Given the description of an element on the screen output the (x, y) to click on. 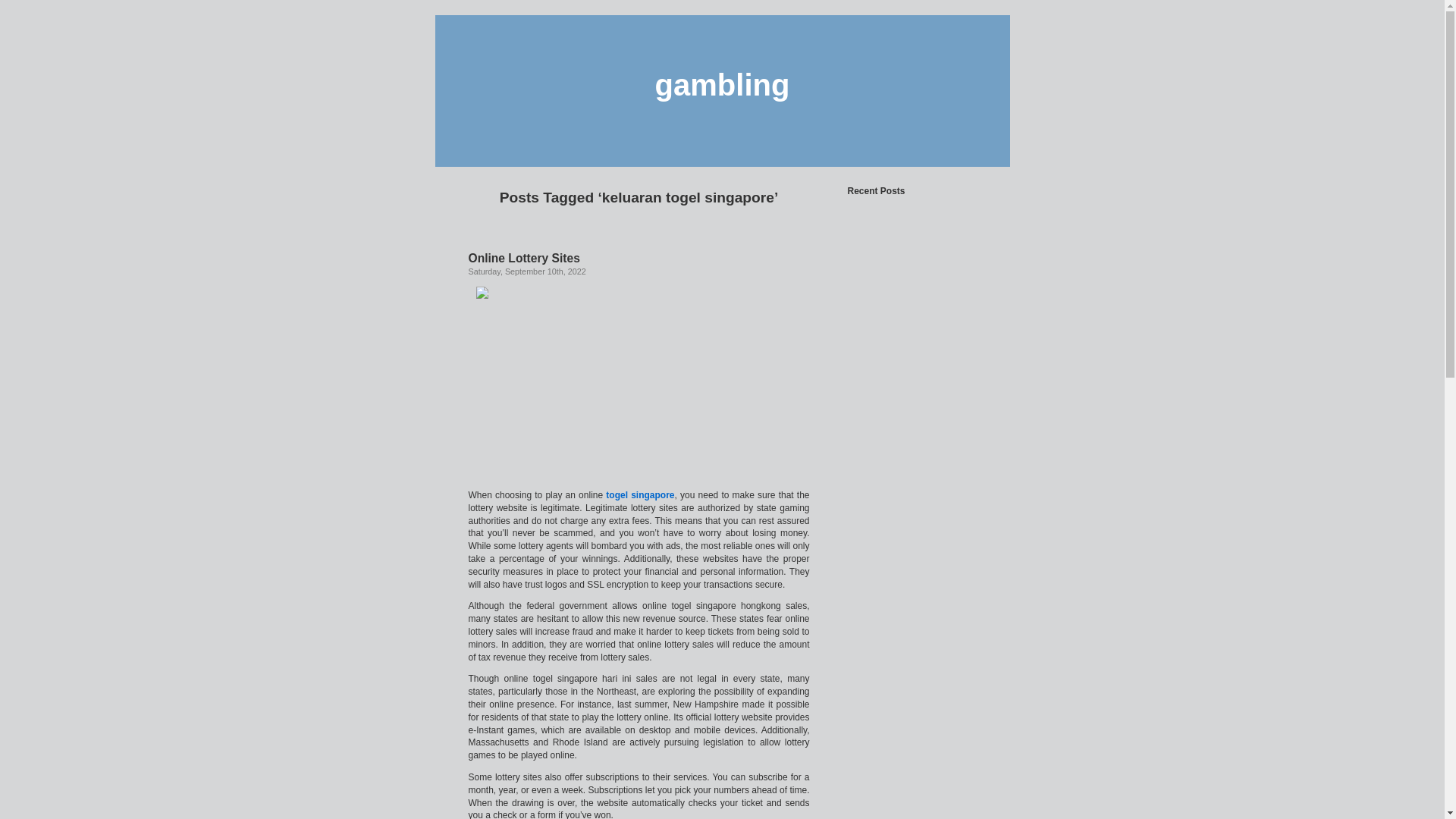
Permanent Link to Online Lottery Sites (523, 257)
Online Lottery Sites (523, 257)
gambling (722, 84)
togel singapore (639, 494)
